Given the description of an element on the screen output the (x, y) to click on. 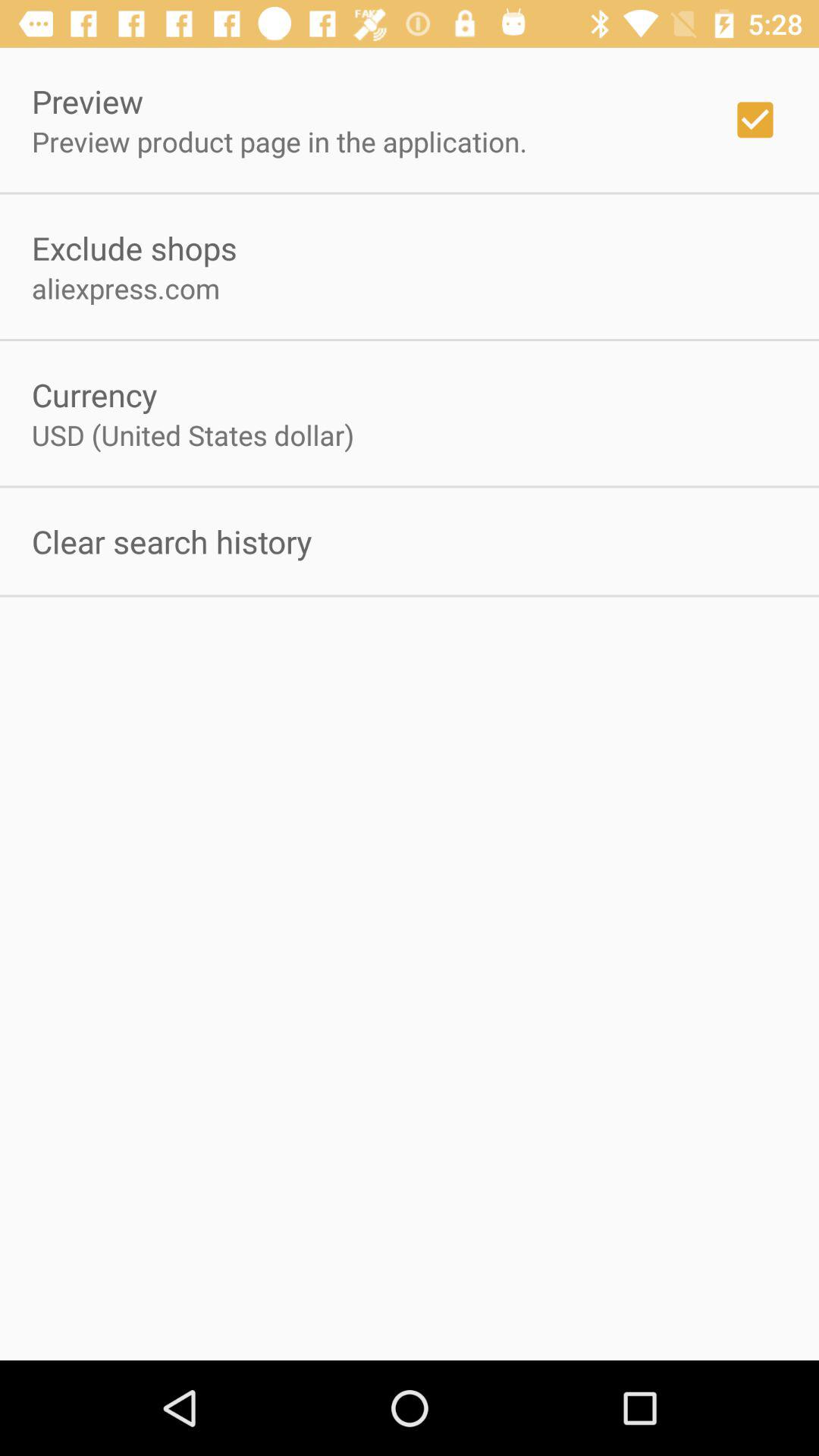
launch the icon below currency (192, 434)
